Given the description of an element on the screen output the (x, y) to click on. 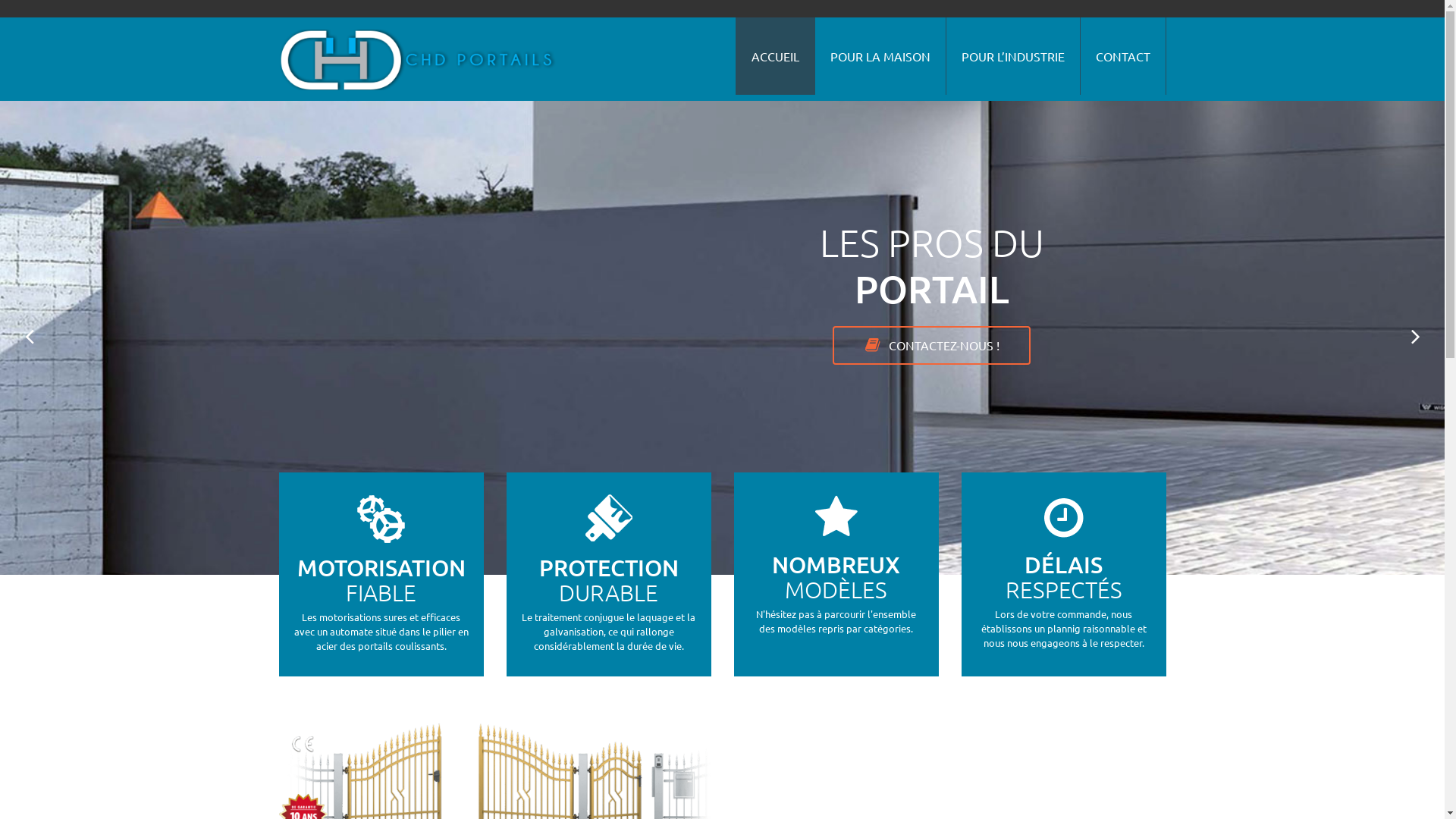
CONTACTEZ-NOUS ! Element type: text (931, 345)
ACCUEIL Element type: text (774, 55)
CONTACT Element type: text (1121, 55)
POUR LA MAISON Element type: text (879, 55)
